Given the description of an element on the screen output the (x, y) to click on. 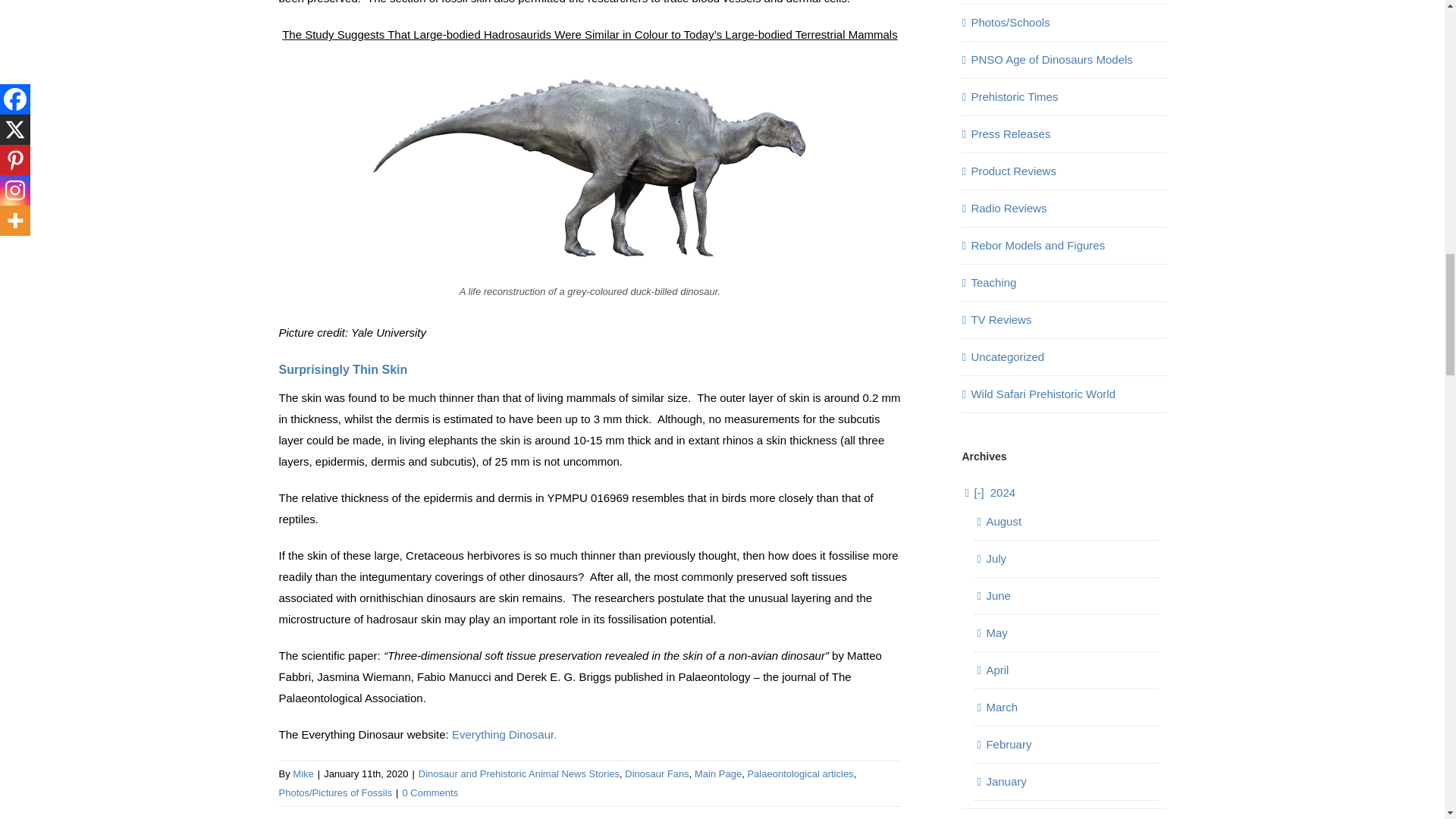
Palaeontological articles (799, 773)
Main Page (717, 773)
Mike (302, 773)
Dinosaur and Prehistoric Animal News Stories (519, 773)
Dinosaur Fans (656, 773)
Posts by Mike (302, 773)
Everything Dinosaur. (503, 734)
0 Comments (429, 792)
